Given the description of an element on the screen output the (x, y) to click on. 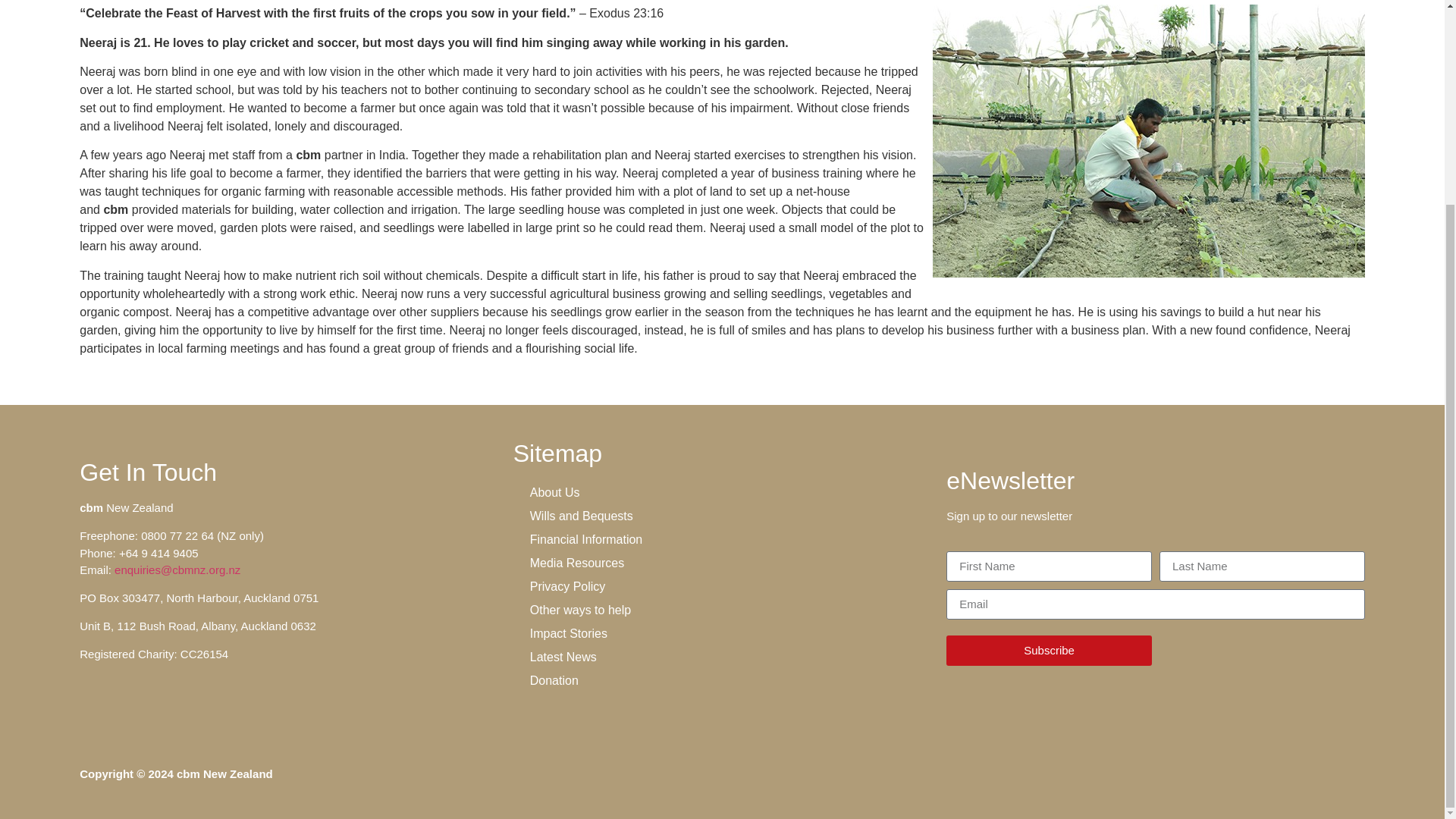
Other ways to help (722, 609)
Media Resources (722, 562)
Impact Stories (722, 633)
Financial Information (722, 539)
Donation (722, 680)
About Us (722, 492)
Privacy Policy (722, 586)
Subscribe (1048, 650)
Latest News (722, 657)
Wills and Bequests (722, 515)
